Given the description of an element on the screen output the (x, y) to click on. 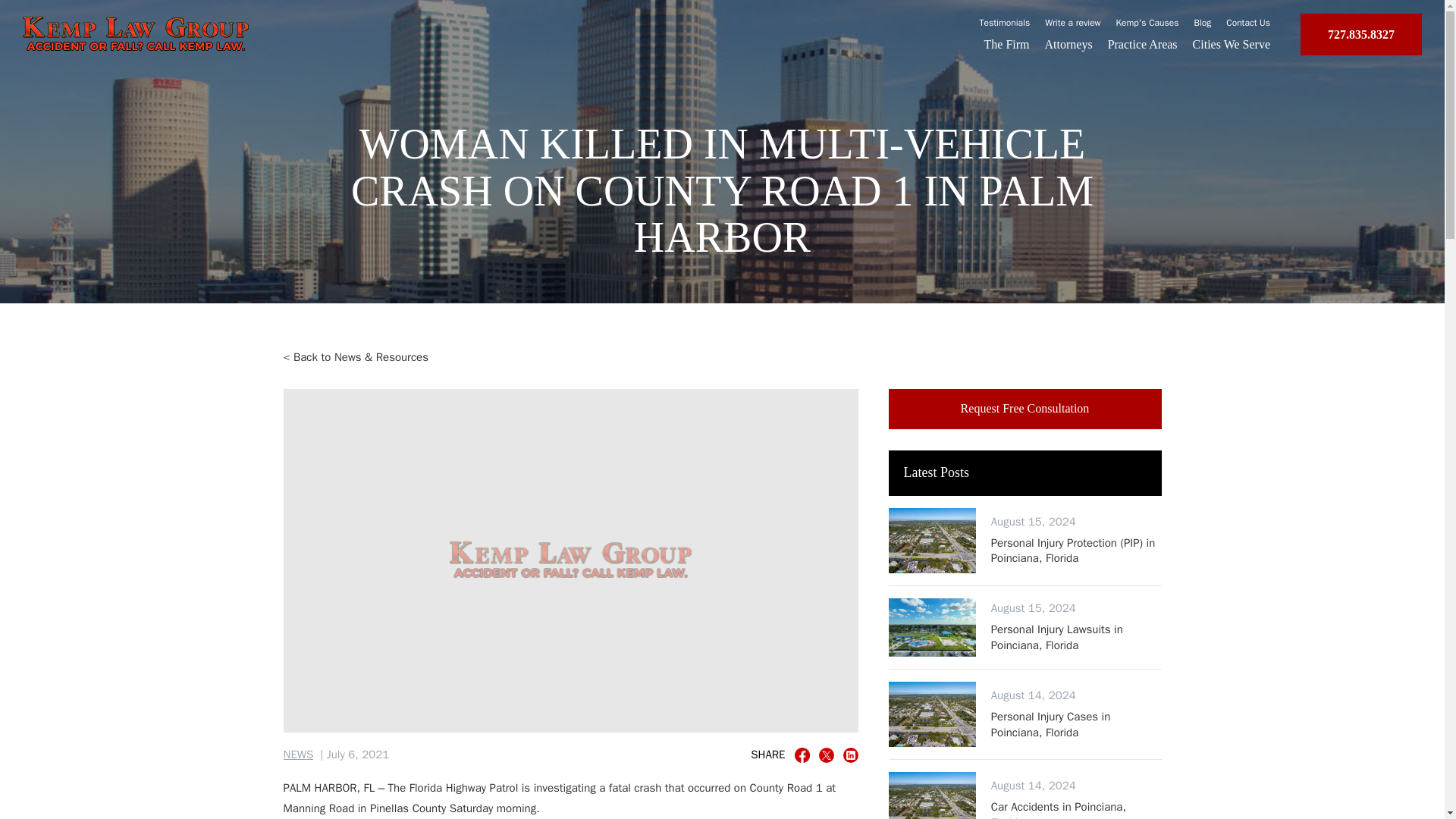
Latest Posts (1024, 473)
Practice Areas (1142, 43)
Share in Facebook (801, 754)
Car Accidents in Poinciana, Florida (1076, 809)
The Firm (1006, 43)
NEWS (298, 754)
Blog (1202, 22)
Contact Us (1247, 22)
Testimonials (1004, 22)
Attorneys (1069, 43)
